Given the description of an element on the screen output the (x, y) to click on. 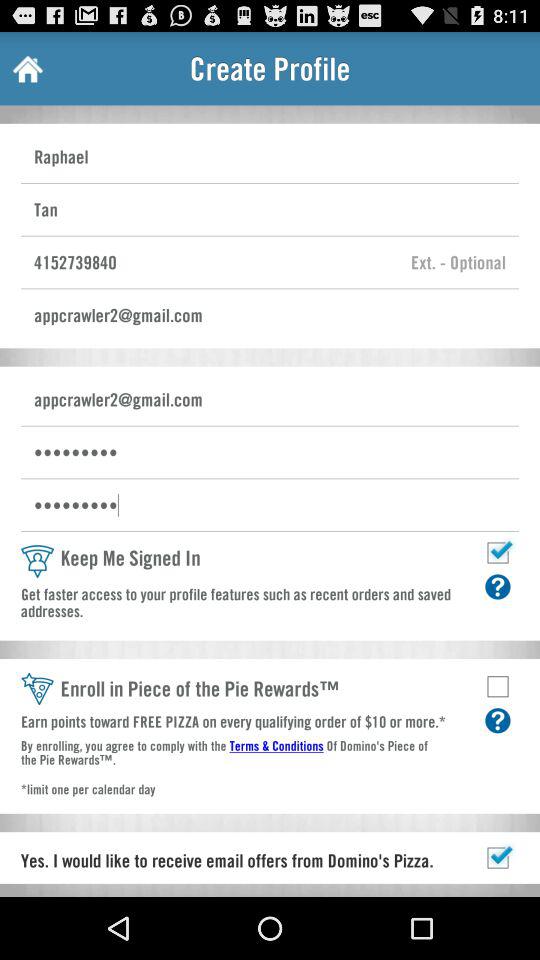
more info about keep me signed in function (497, 586)
